Given the description of an element on the screen output the (x, y) to click on. 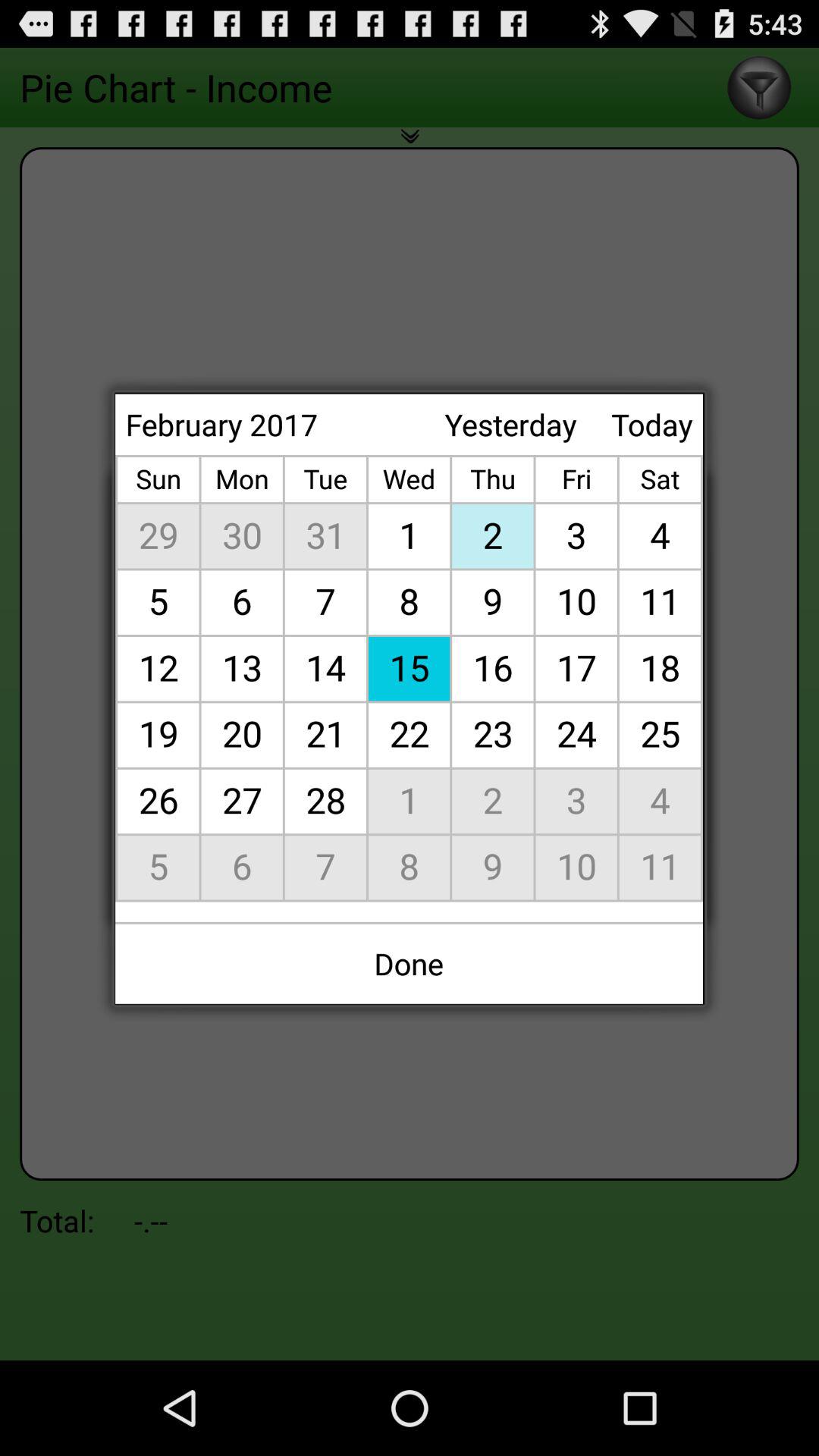
select icon next to yesterday (651, 424)
